Given the description of an element on the screen output the (x, y) to click on. 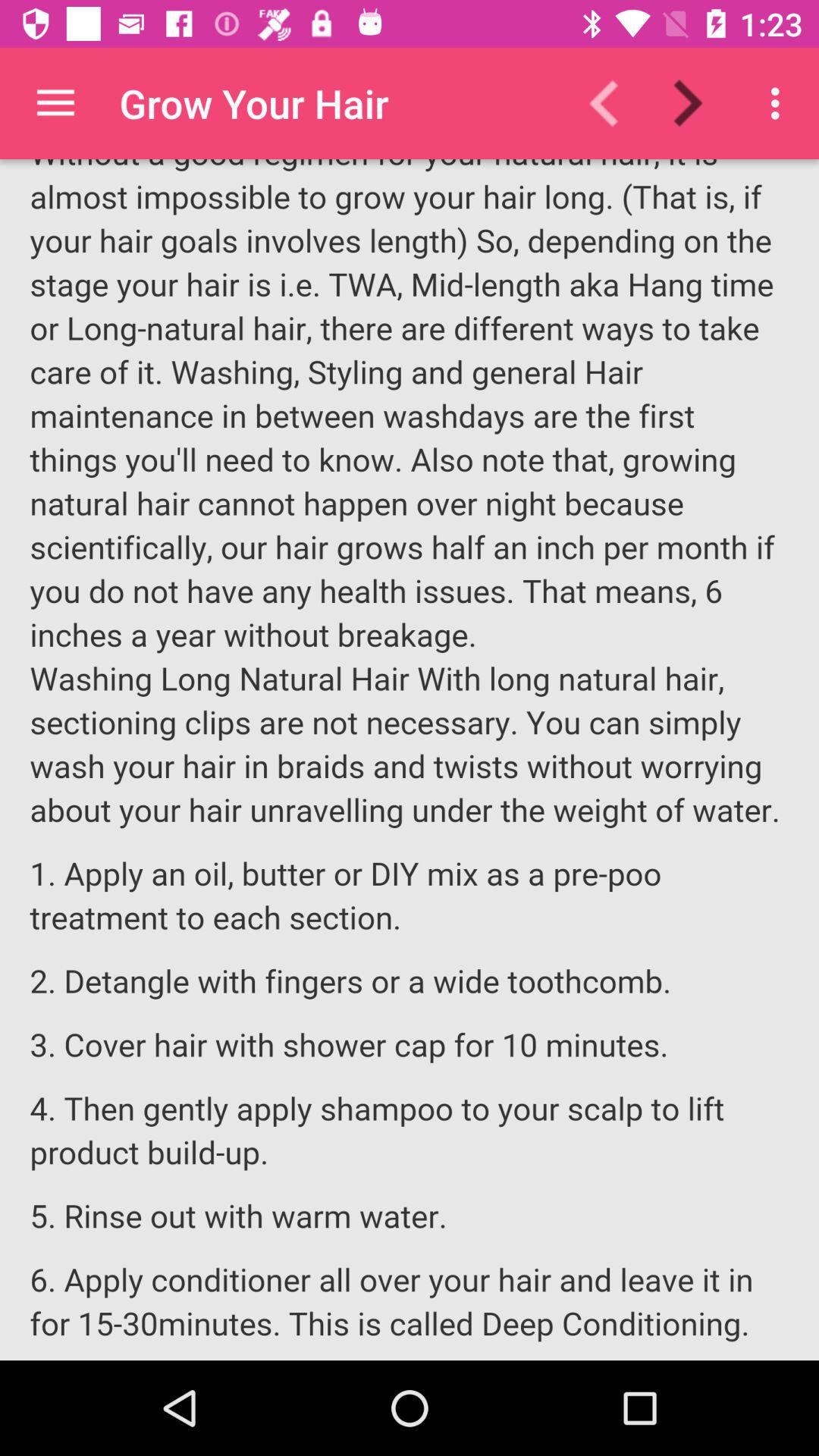
forward button (697, 103)
